Given the description of an element on the screen output the (x, y) to click on. 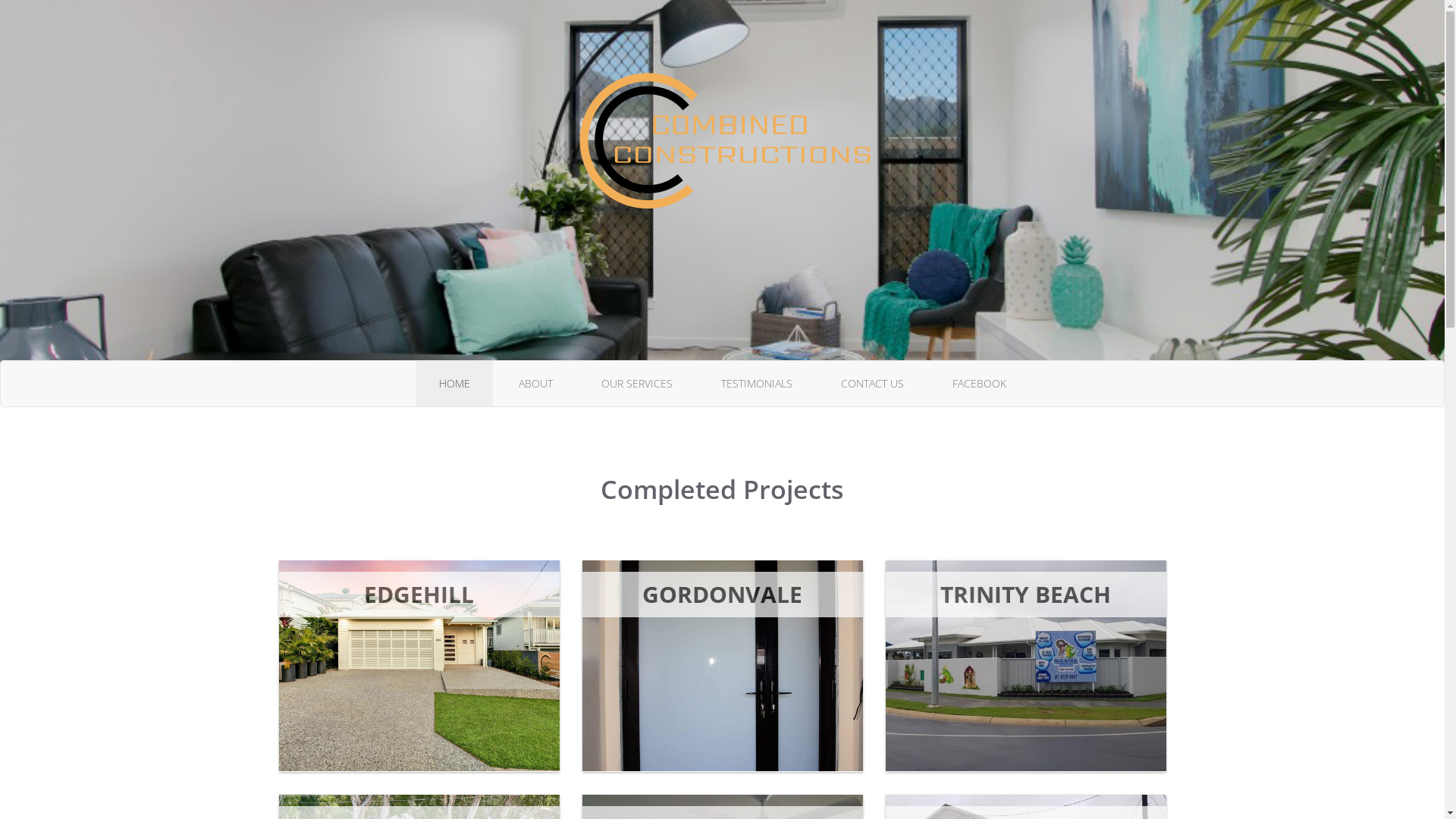
HOME Element type: text (453, 383)
TESTIMONIALS Element type: text (755, 383)
OUR SERVICES Element type: text (635, 383)
FACEBOOK Element type: text (979, 383)
CONTACT US Element type: text (871, 383)
ABOUT Element type: text (535, 383)
